Given the description of an element on the screen output the (x, y) to click on. 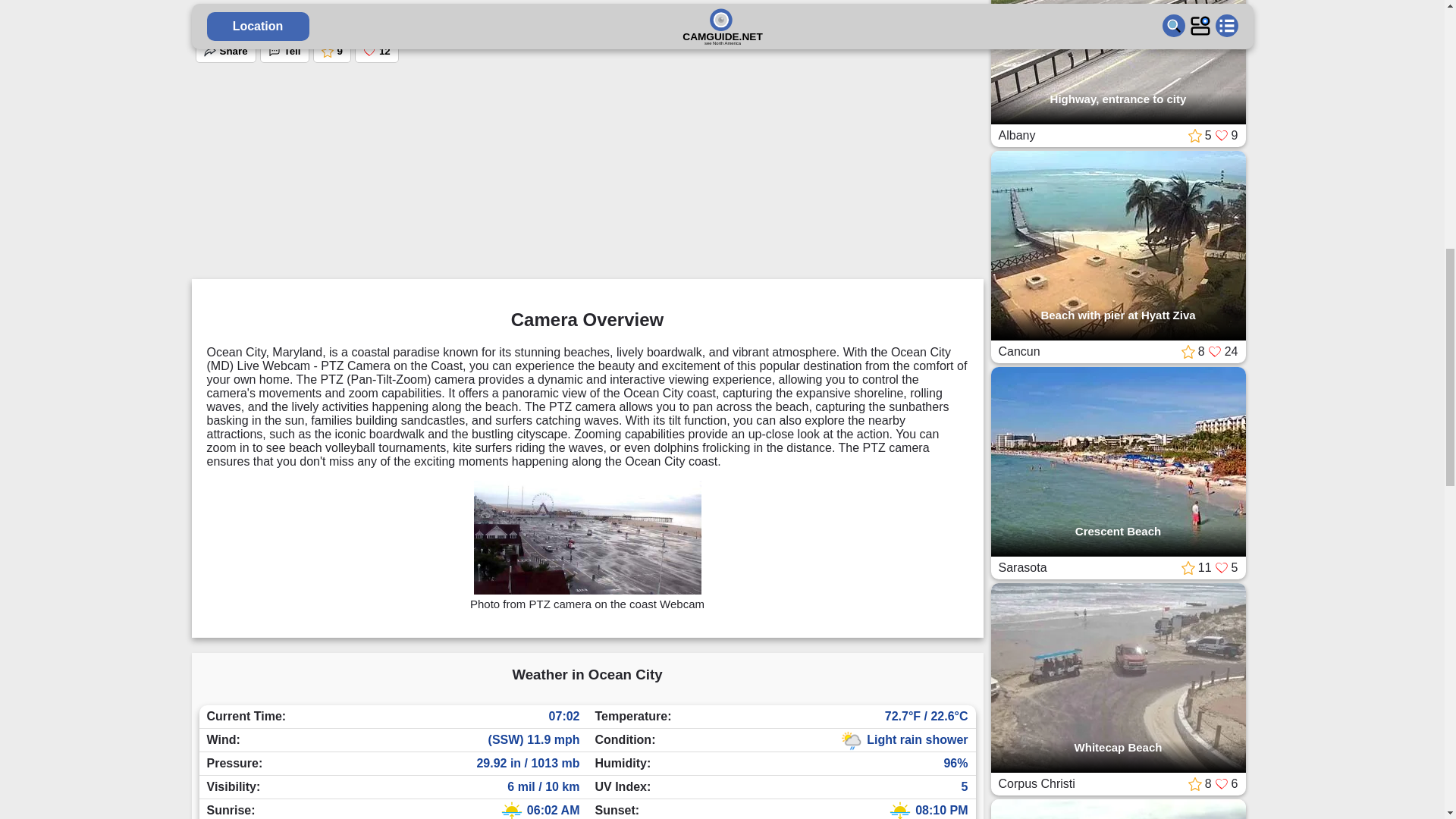
9 (331, 51)
Tell (284, 51)
12 (376, 51)
Share (225, 51)
